Given the description of an element on the screen output the (x, y) to click on. 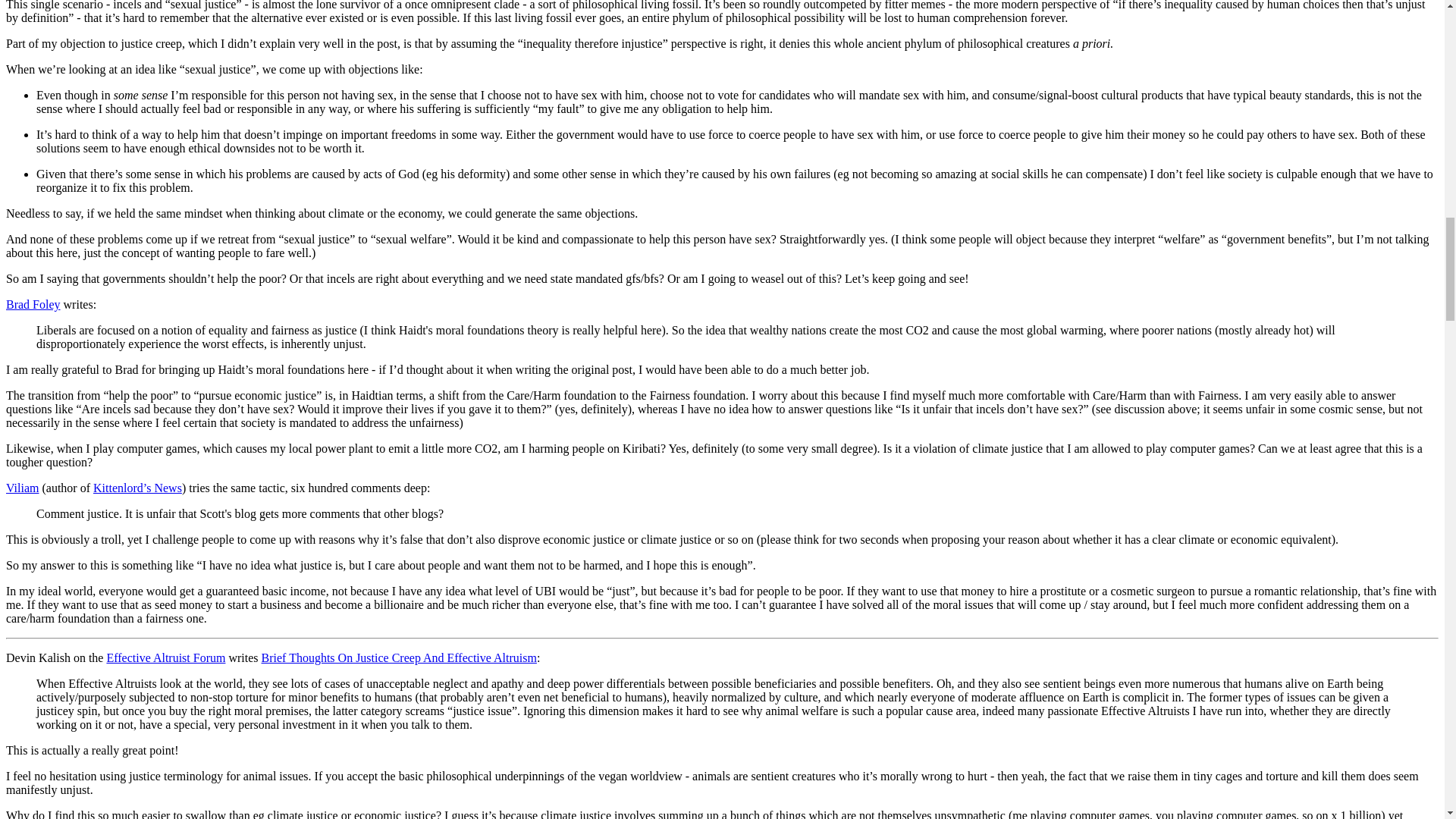
Effective Altruist Forum (165, 657)
Brad Foley (33, 304)
Brief Thoughts On Justice Creep And Effective Altruism (399, 657)
Viliam (22, 487)
